Given the description of an element on the screen output the (x, y) to click on. 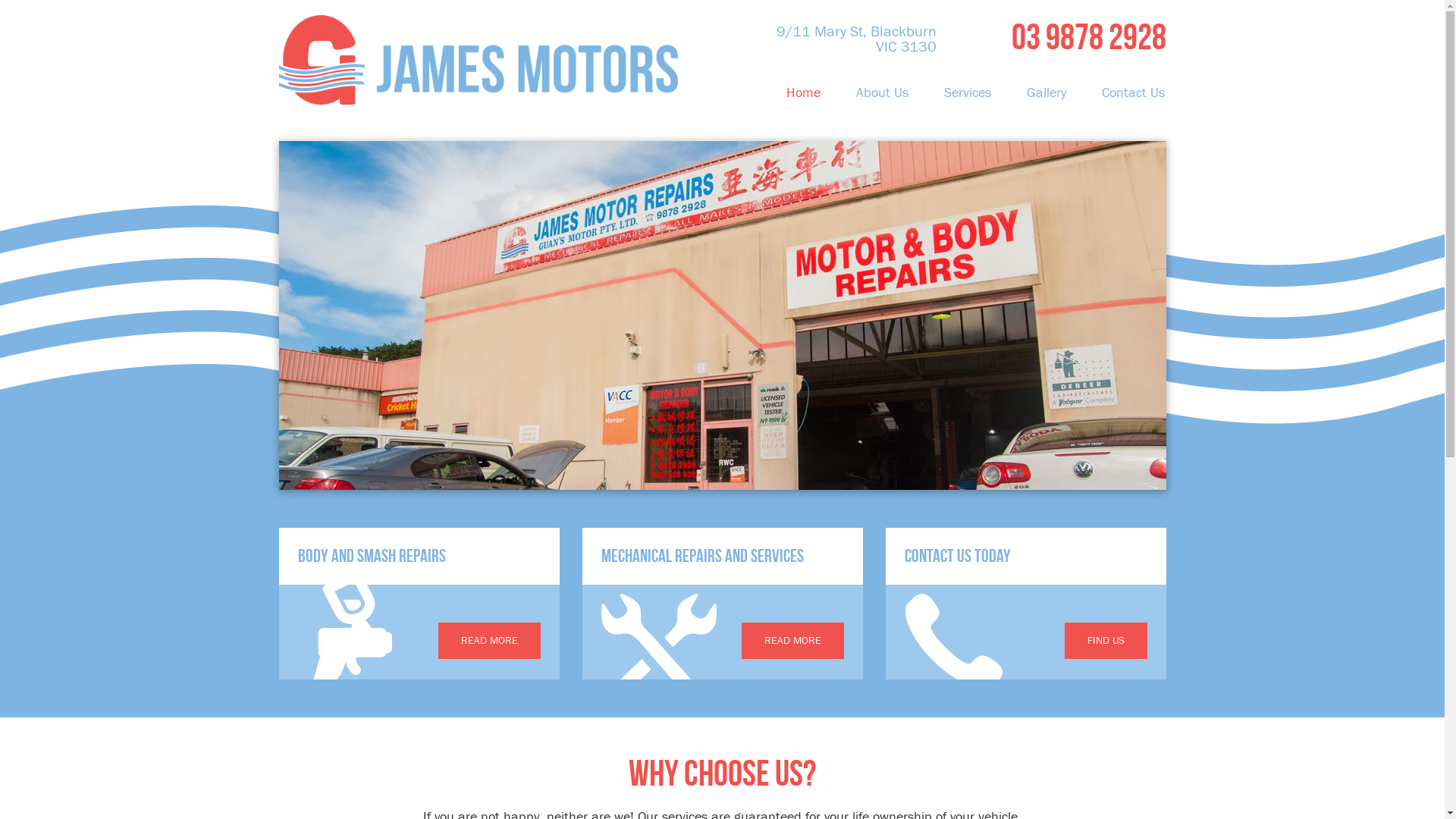
FIND US Element type: text (1105, 640)
READ MORE Element type: text (792, 640)
READ MORE Element type: text (489, 640)
Services Element type: text (967, 93)
Contact Us Element type: text (1124, 93)
Home Element type: text (803, 93)
About Us Element type: text (882, 93)
03 9878 2928 Element type: text (1055, 36)
James Motor Repairs Element type: hover (478, 50)
9/11 Mary St, Blackburn
VIC 3130 Element type: text (832, 36)
Gallery Element type: text (1045, 93)
